Given the description of an element on the screen output the (x, y) to click on. 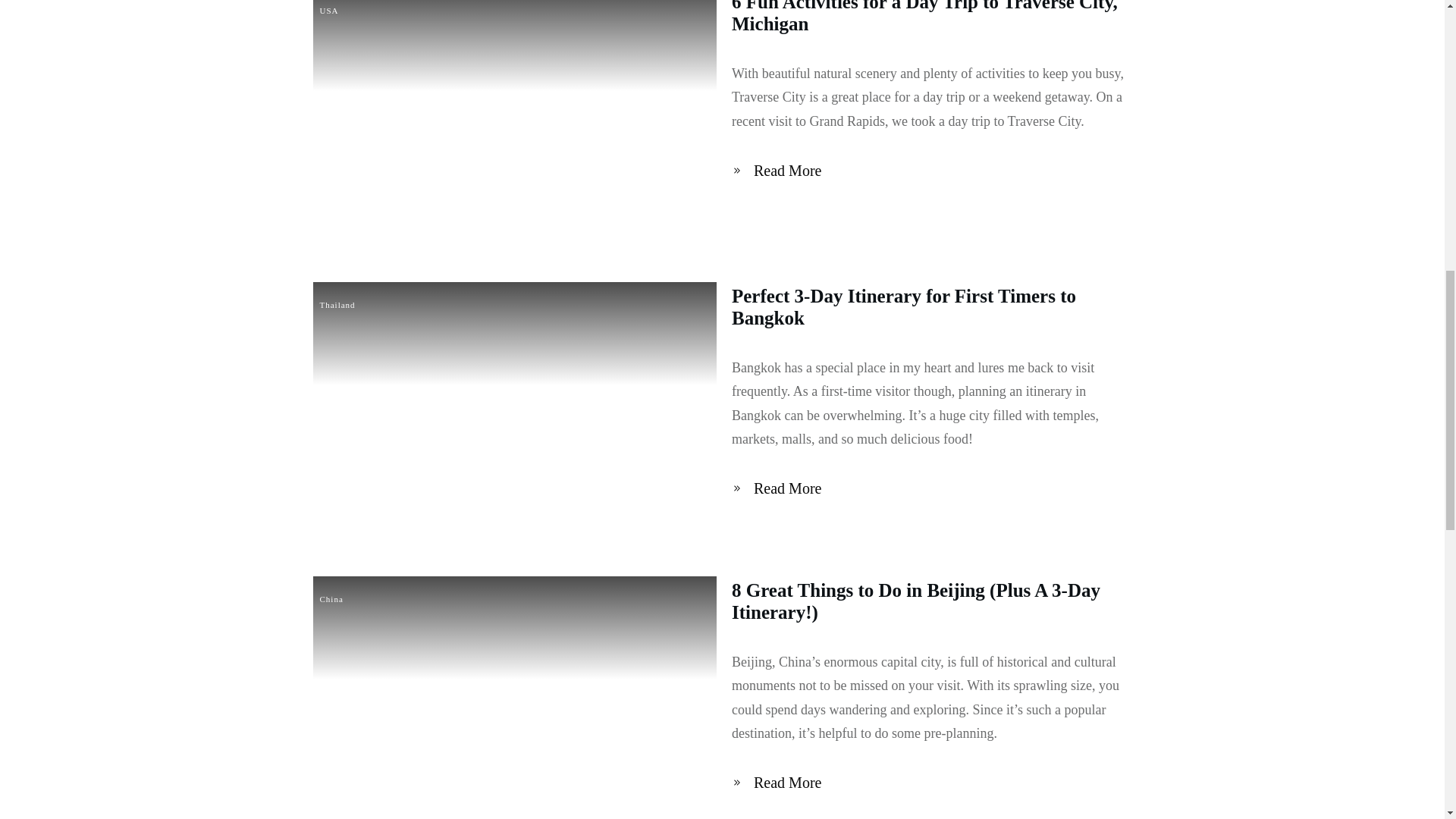
USA (329, 10)
USA (329, 10)
Read More (780, 171)
6 Fun Activities for a Day Trip to Traverse City, Michigan (925, 17)
Read More (780, 782)
Thailand (337, 304)
Read More (780, 488)
6 Fun Activities for a Day Trip to Traverse City, Michigan (925, 17)
Perfect 3-Day Itinerary for First Timers to Bangkok (903, 306)
China (331, 598)
Perfect 3-Day Itinerary for First Timers to Bangkok (903, 306)
Thailand (337, 304)
China (331, 598)
